Given the description of an element on the screen output the (x, y) to click on. 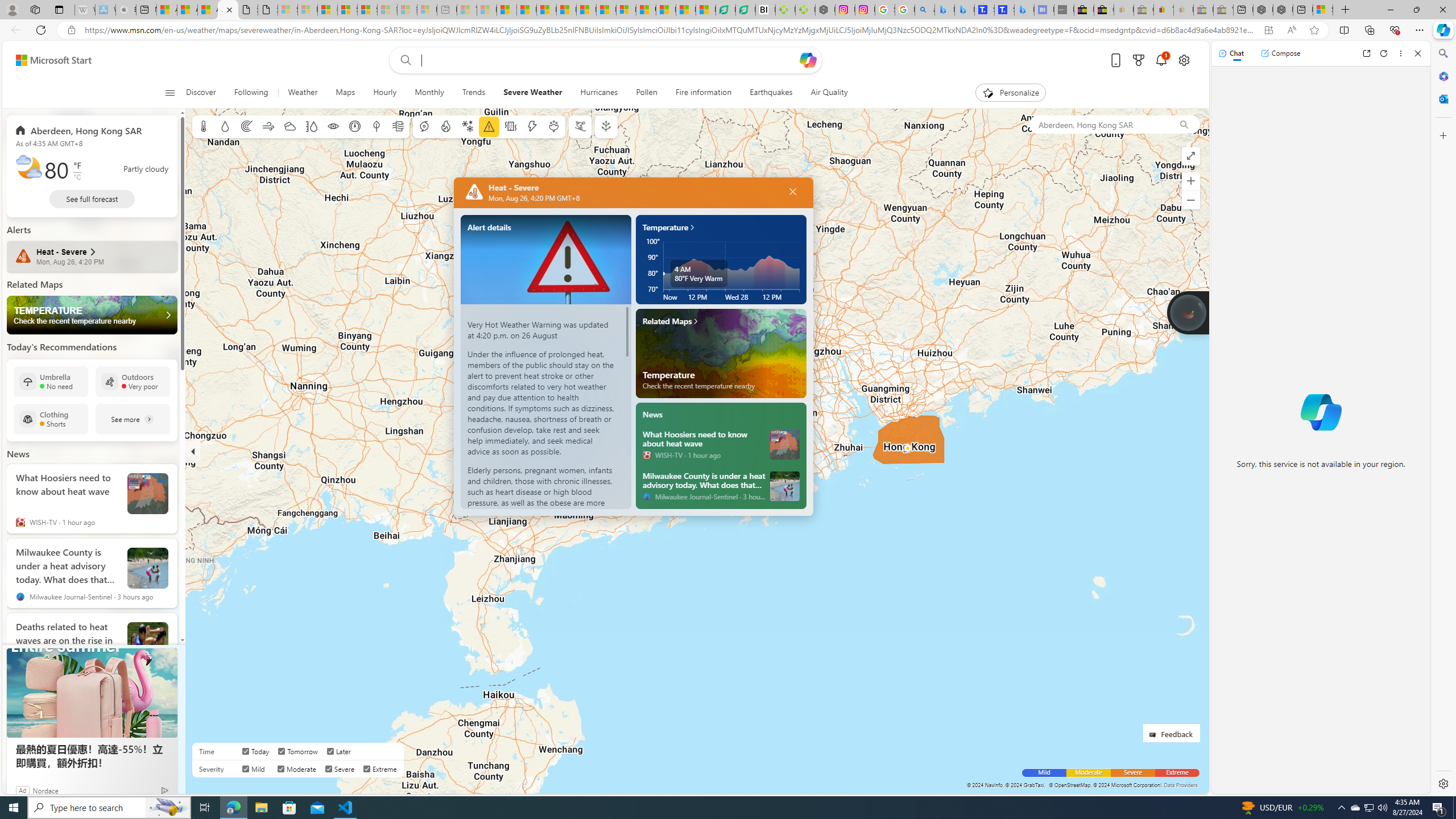
Compose (1280, 52)
Earthquake (510, 126)
E-tree (605, 126)
Join us in planting real trees to help our planet! (1188, 312)
Heat - Severe Mon, Aug 26, 4:20 PM (92, 255)
Umbrella No need (50, 381)
WISH-TV (646, 454)
Nvidia va a poner a prueba la paciencia de los inversores (765, 9)
Enter full screen mode (1190, 156)
Temperature (721, 352)
